Given the description of an element on the screen output the (x, y) to click on. 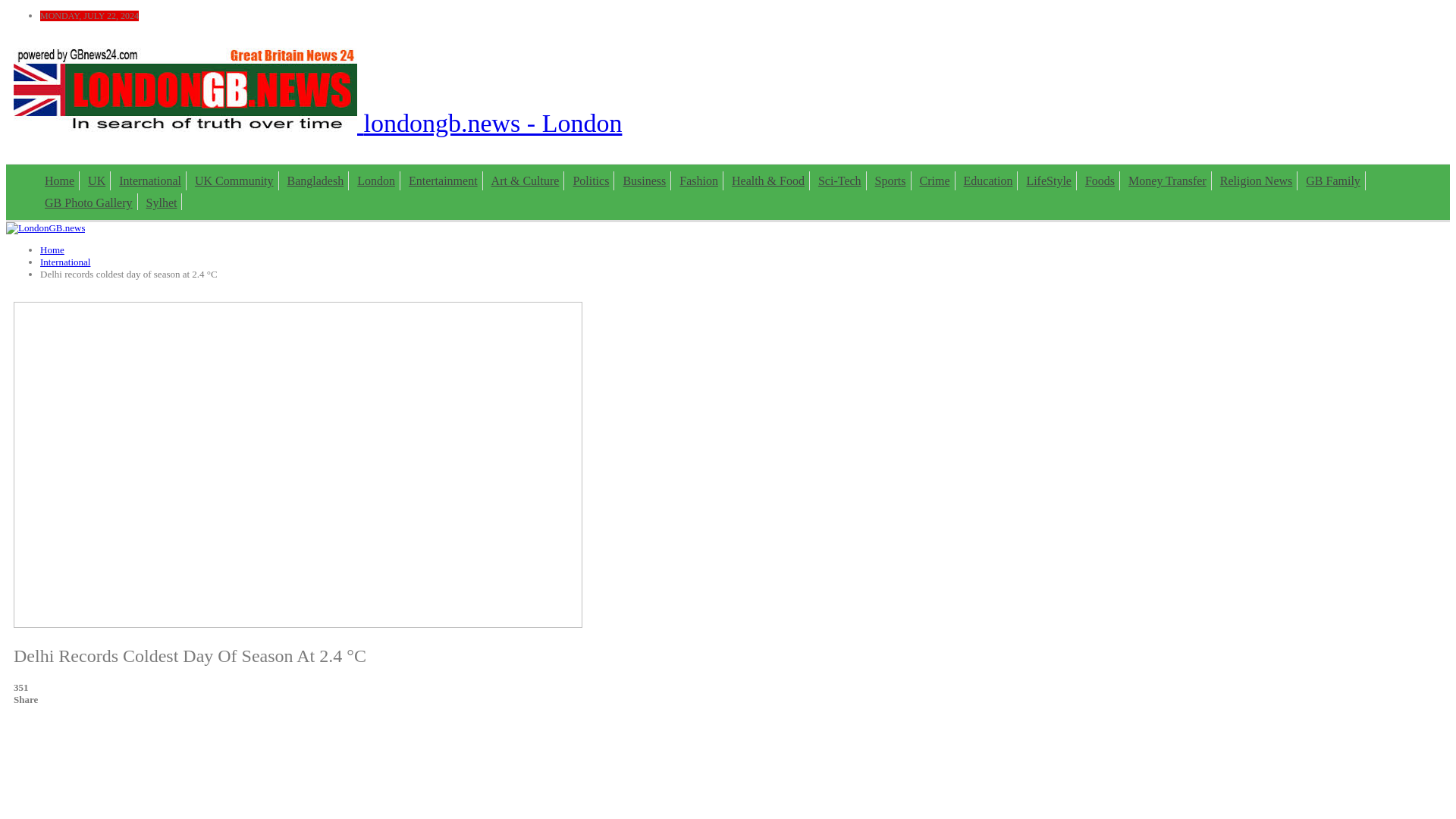
Money Transfer (1167, 180)
Sports (890, 180)
GB Photo Gallery (88, 202)
Entertainment (442, 180)
GB Family (1333, 180)
UK Community (234, 180)
International (65, 261)
Home (52, 249)
Politics (589, 180)
Crime (935, 180)
International (150, 180)
UK (96, 180)
Education (988, 180)
LifeStyle (1048, 180)
Fashion (698, 180)
